Given the description of an element on the screen output the (x, y) to click on. 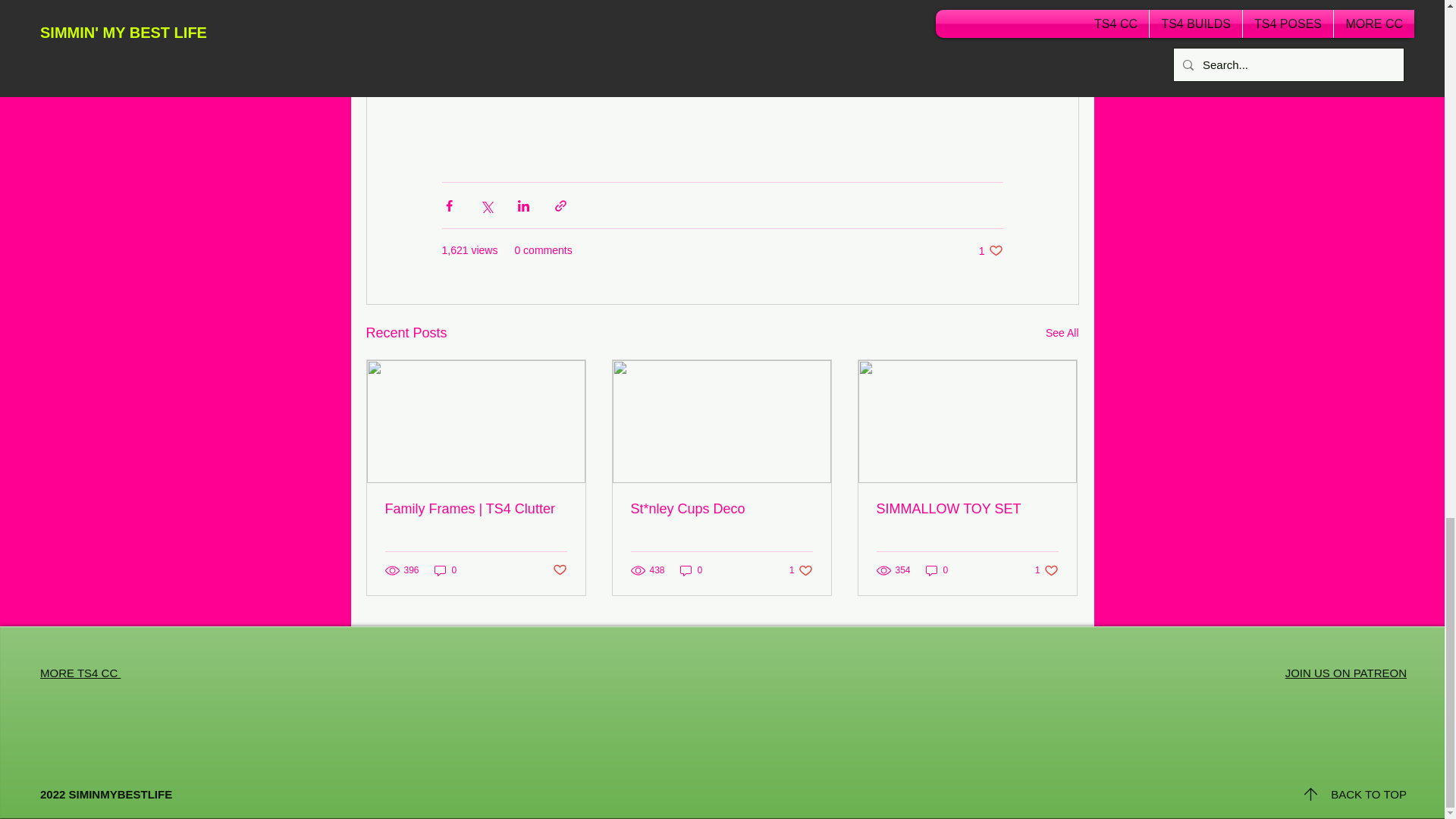
0 (445, 569)
See All (1061, 332)
0 (691, 569)
BACK TO TOP (1368, 793)
JOIN US ON PATREON (1345, 672)
MORE TS4 CC  (990, 250)
SIMMALLOW TOY SET (1046, 569)
Post not marked as liked (80, 672)
0 (800, 569)
